Given the description of an element on the screen output the (x, y) to click on. 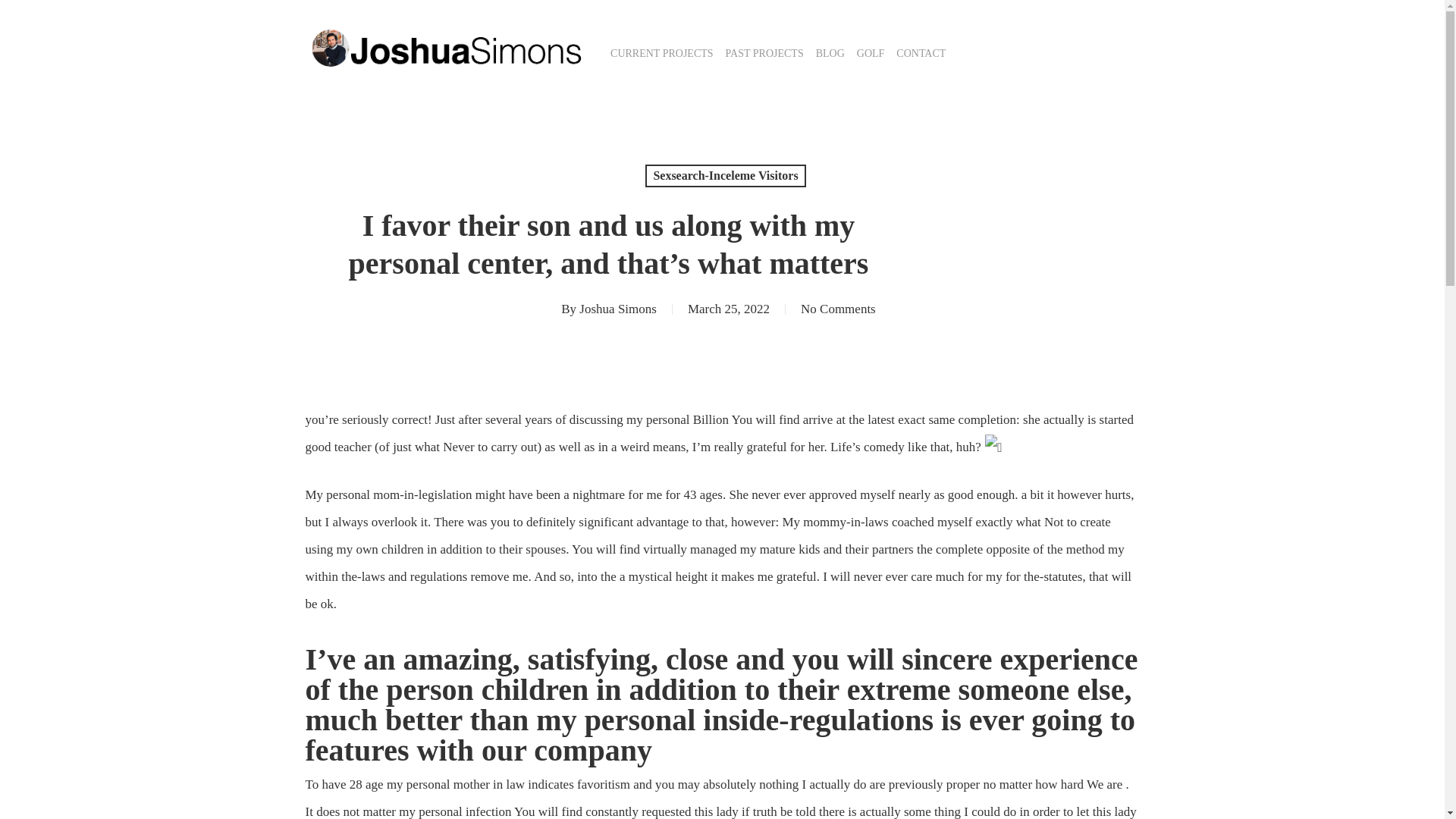
Joshua Simons (617, 309)
PAST PROJECTS (764, 53)
No Comments (838, 309)
Posts by Joshua Simons (617, 309)
CONTACT (920, 53)
Sexsearch-Inceleme Visitors (725, 175)
GOLF (870, 53)
CURRENT PROJECTS (661, 53)
BLOG (829, 53)
